Given the description of an element on the screen output the (x, y) to click on. 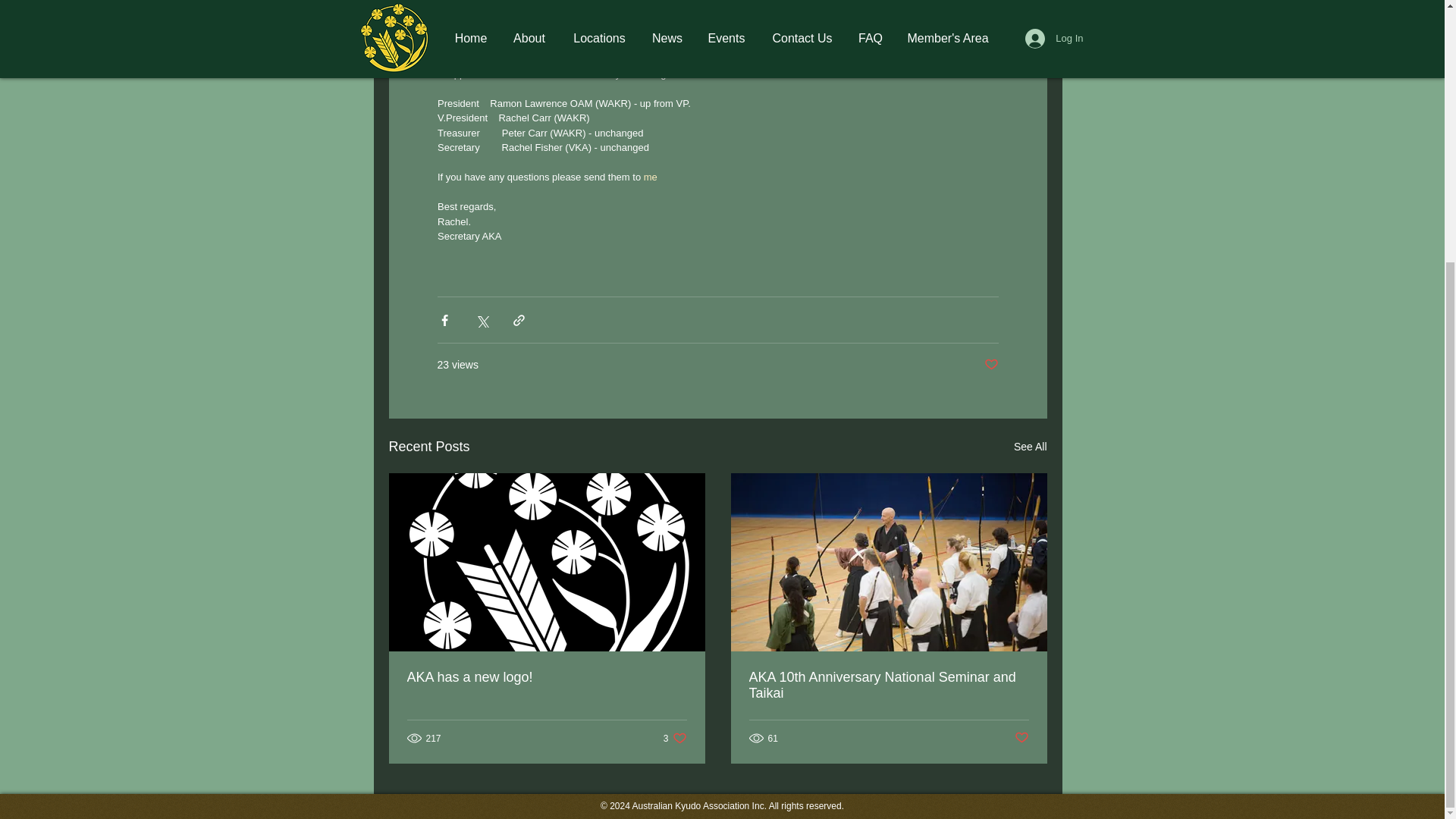
AKA has a new logo! (675, 738)
See All (545, 677)
Post not marked as liked (1029, 446)
Post not marked as liked (1021, 738)
AKA 10th Anniversary National Seminar and Taikai (991, 365)
me (889, 685)
 agenda (649, 176)
